Given the description of an element on the screen output the (x, y) to click on. 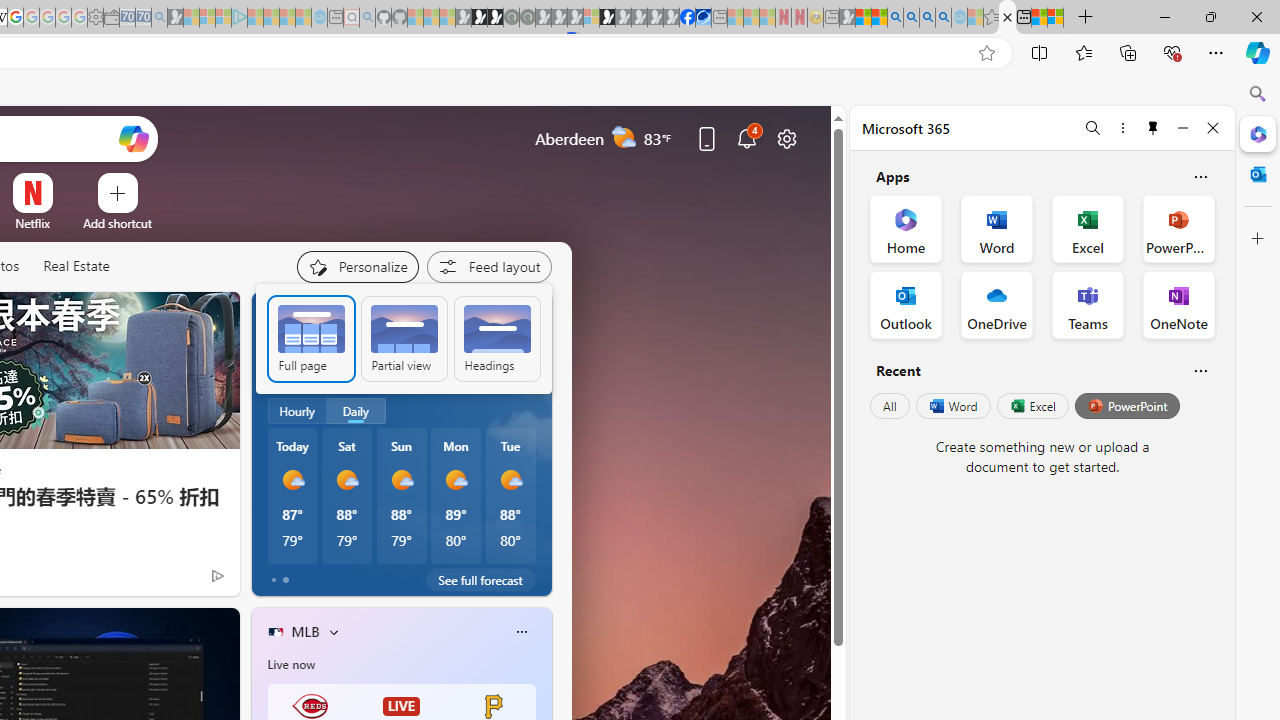
Microsoft Start Gaming - Sleeping (175, 17)
Excel (1031, 406)
Cheap Car Rentals - Save70.com - Sleeping (143, 17)
Feed settings (488, 266)
Class: weather-arrow-glyph (531, 367)
Home | Sky Blue Bikes - Sky Blue Bikes - Sleeping (319, 17)
Real Estate (76, 265)
Sign in to your account - Sleeping (591, 17)
